Given the description of an element on the screen output the (x, y) to click on. 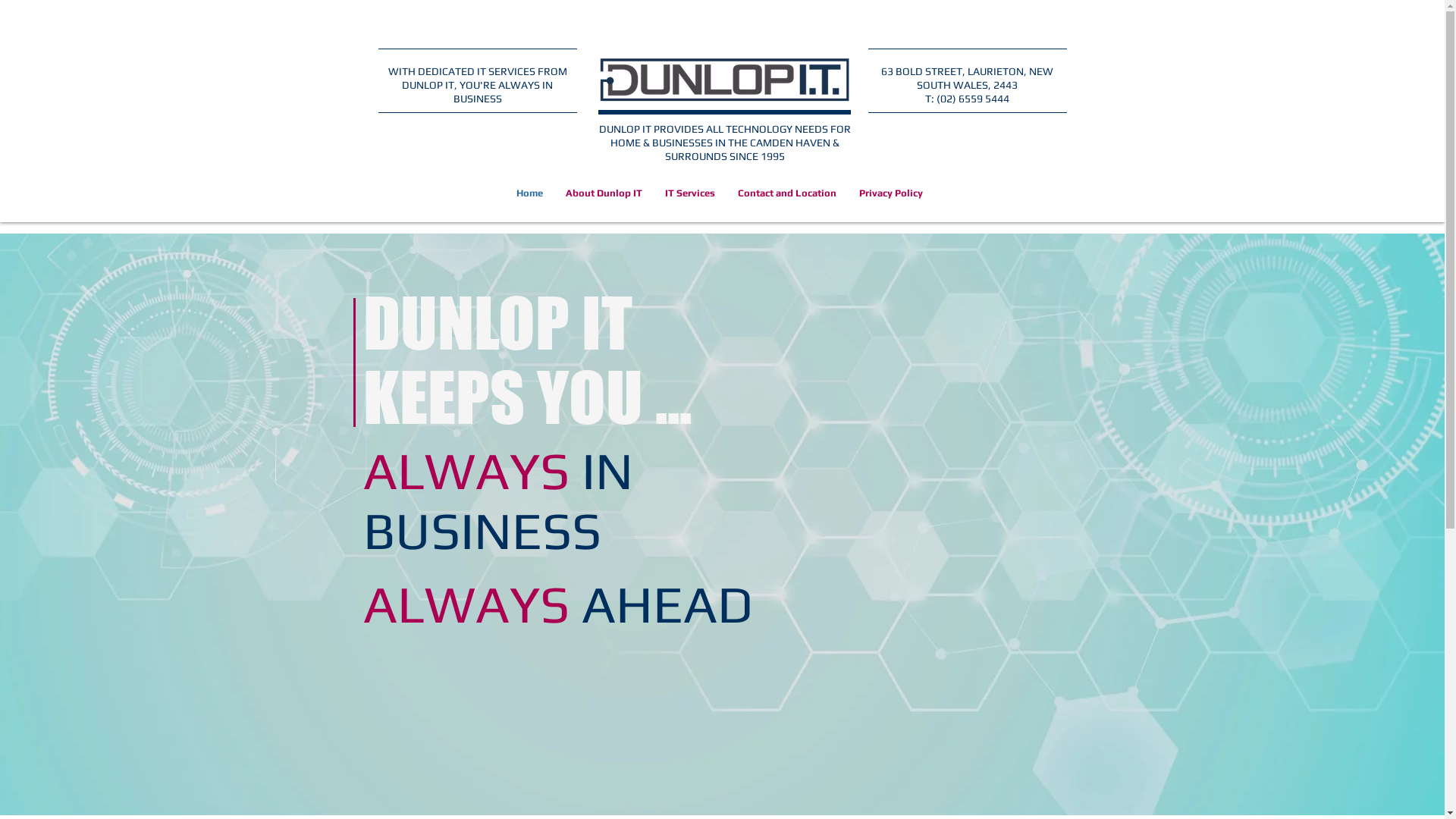
Privacy Policy Element type: text (890, 192)
T: (02) 6559 5444 Element type: text (967, 98)
Home Element type: text (529, 192)
Contact and Location Element type: text (786, 192)
Embedded Content Element type: hover (437, 13)
About Dunlop IT Element type: text (602, 192)
IT Services Element type: text (689, 192)
